Given the description of an element on the screen output the (x, y) to click on. 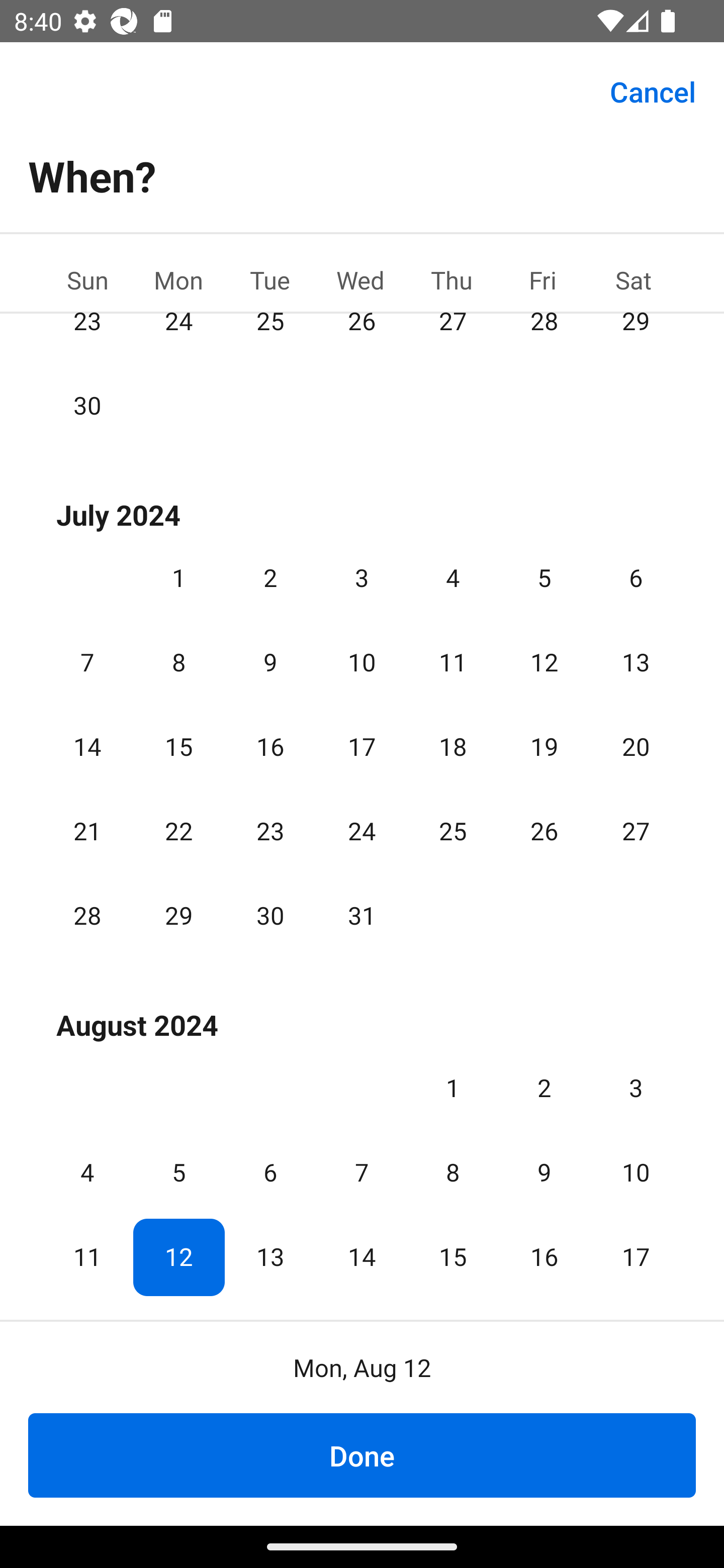
Cancel (652, 90)
Done (361, 1454)
